Given the description of an element on the screen output the (x, y) to click on. 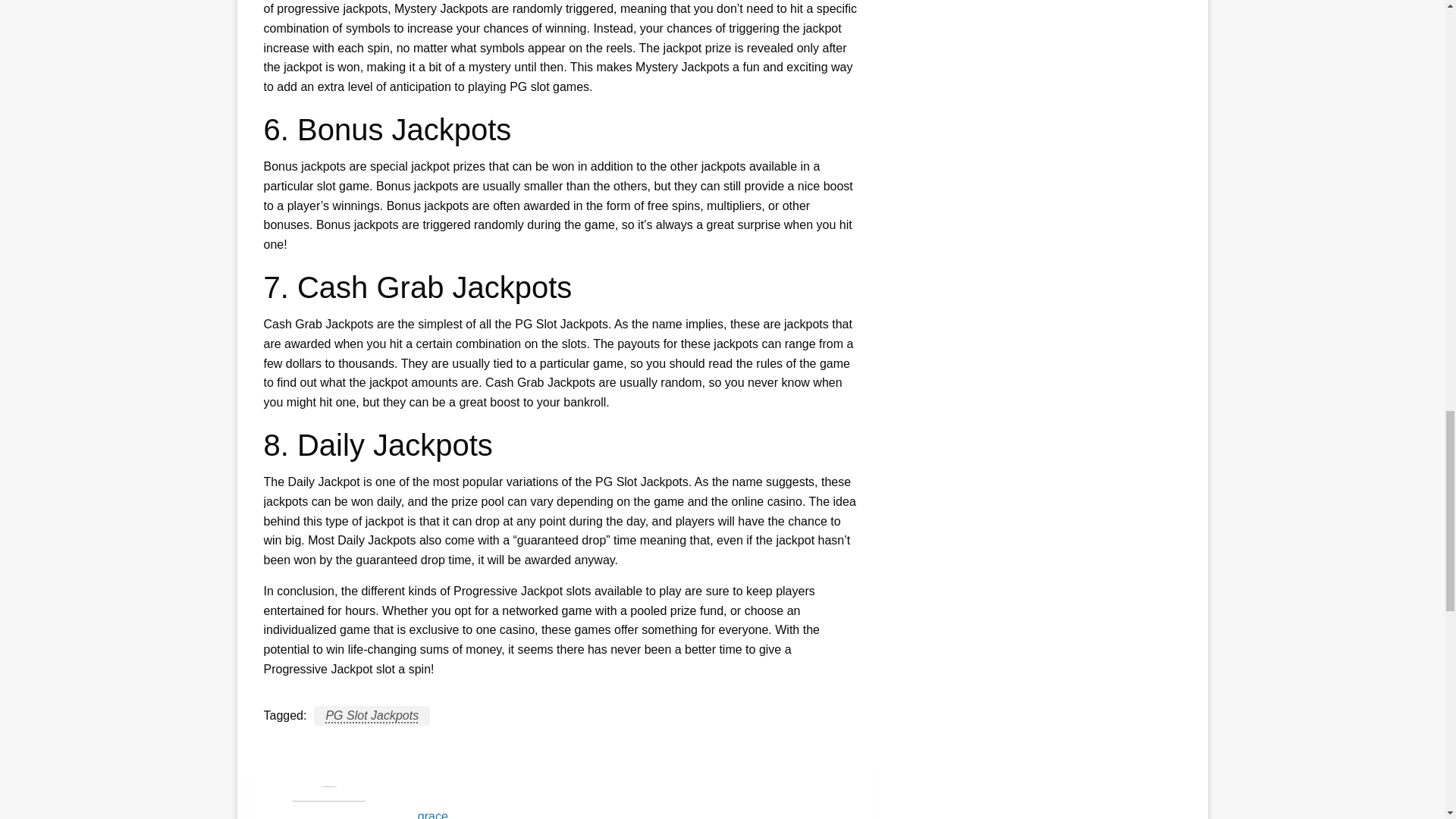
grace (637, 814)
PG Slot Jackpots (371, 715)
grace (637, 814)
